Given the description of an element on the screen output the (x, y) to click on. 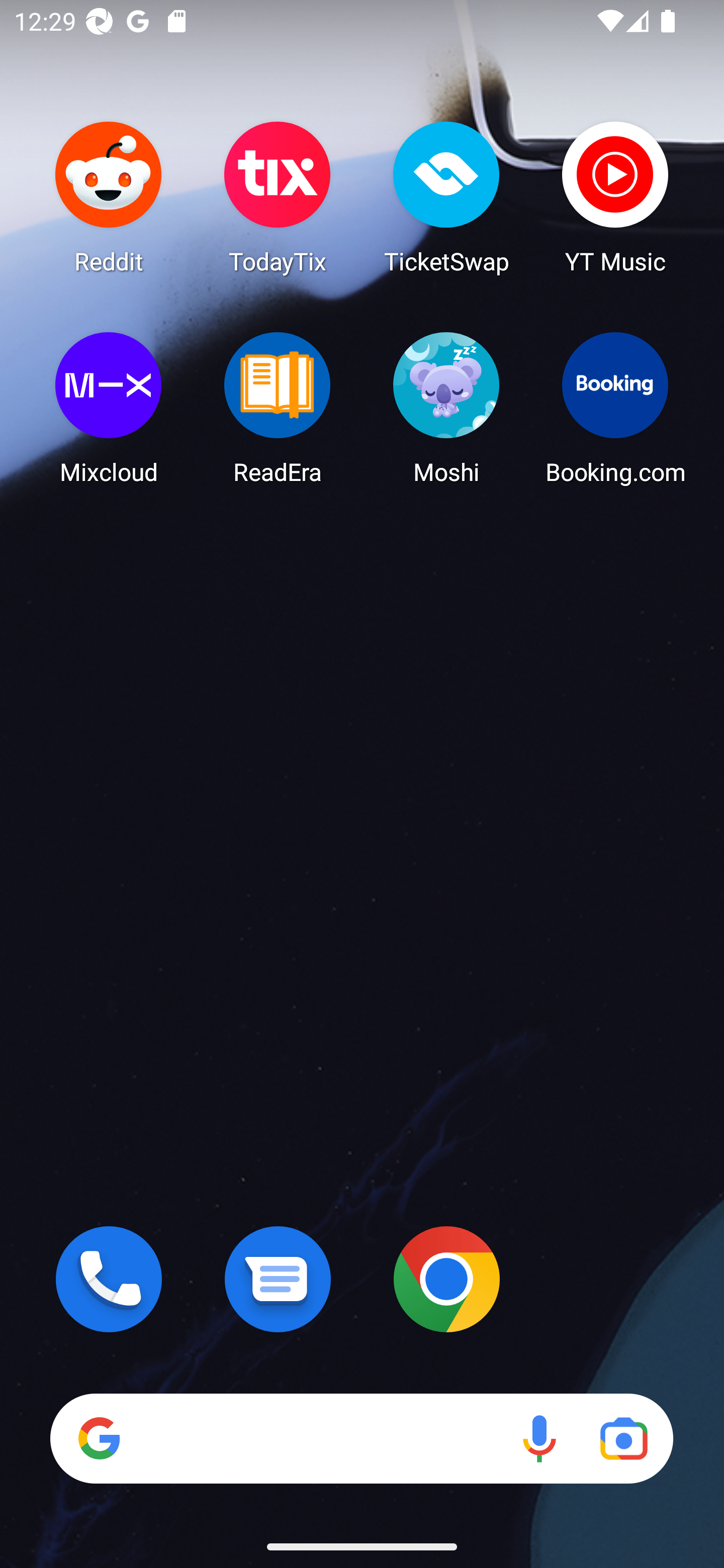
Reddit (108, 196)
TodayTix (277, 196)
TicketSwap (445, 196)
YT Music (615, 196)
Mixcloud (108, 407)
ReadEra (277, 407)
Moshi (445, 407)
Booking.com (615, 407)
Phone (108, 1279)
Messages (277, 1279)
Chrome (446, 1279)
Search Voice search Google Lens (361, 1438)
Voice search (539, 1438)
Google Lens (623, 1438)
